Given the description of an element on the screen output the (x, y) to click on. 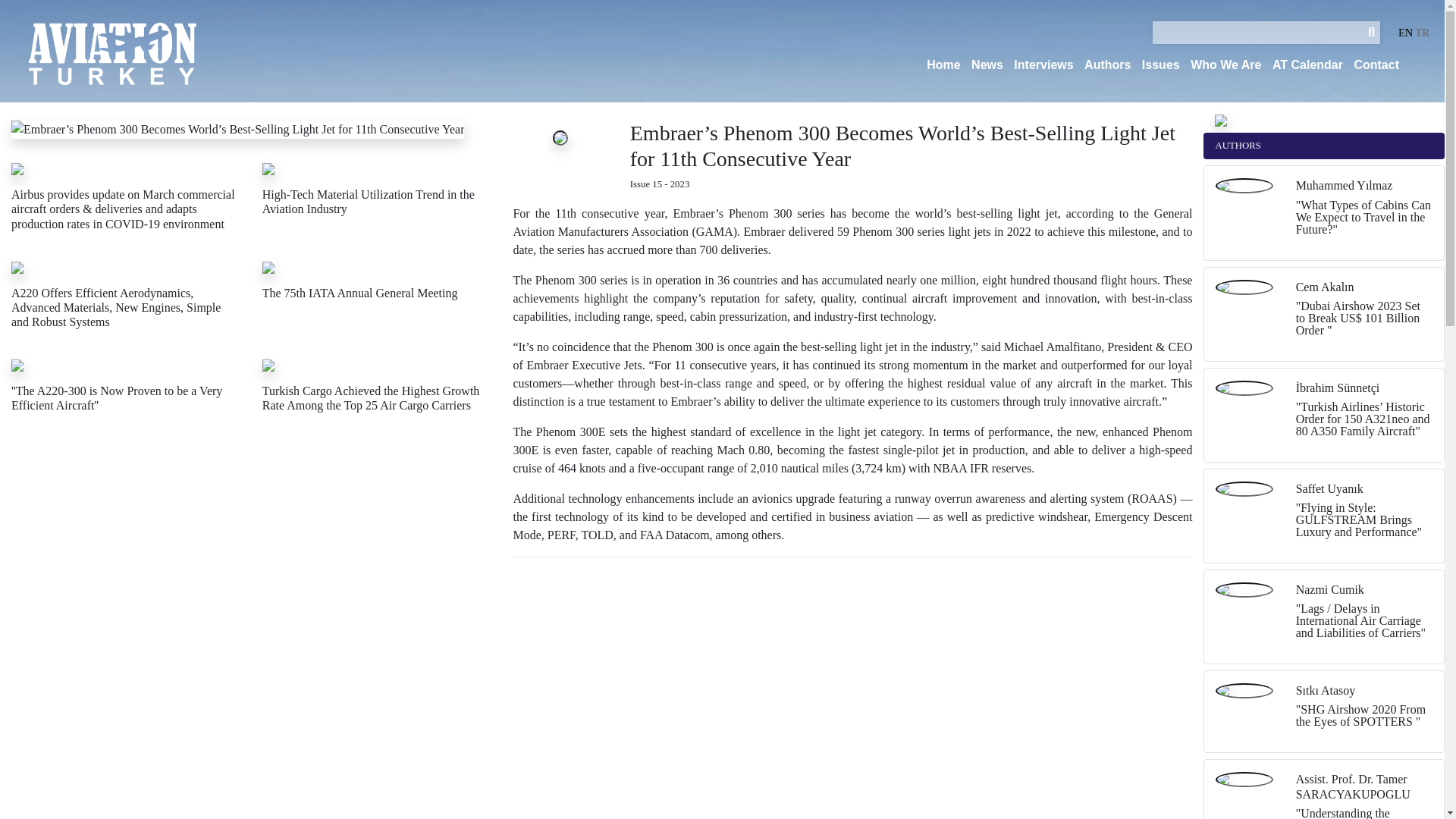
Authors (1107, 65)
Issues (1160, 65)
AT Calendar (1307, 65)
EN (1404, 32)
TR (1422, 32)
Interviews (1043, 65)
Home (942, 65)
Contact (1376, 65)
Who We Are (1225, 65)
News (987, 65)
